Given the description of an element on the screen output the (x, y) to click on. 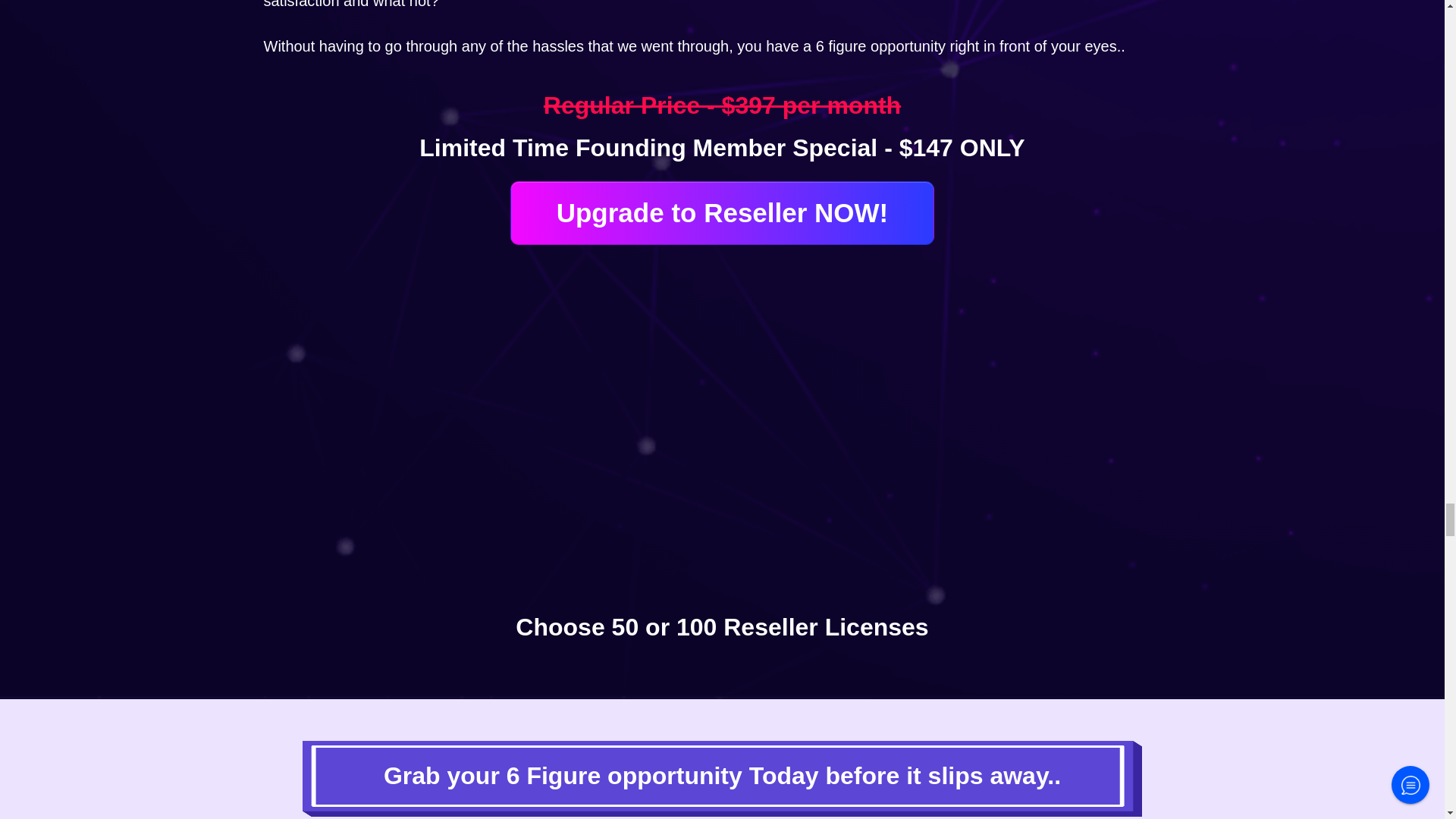
Upgrade to Reseller NOW! (722, 212)
